Given the description of an element on the screen output the (x, y) to click on. 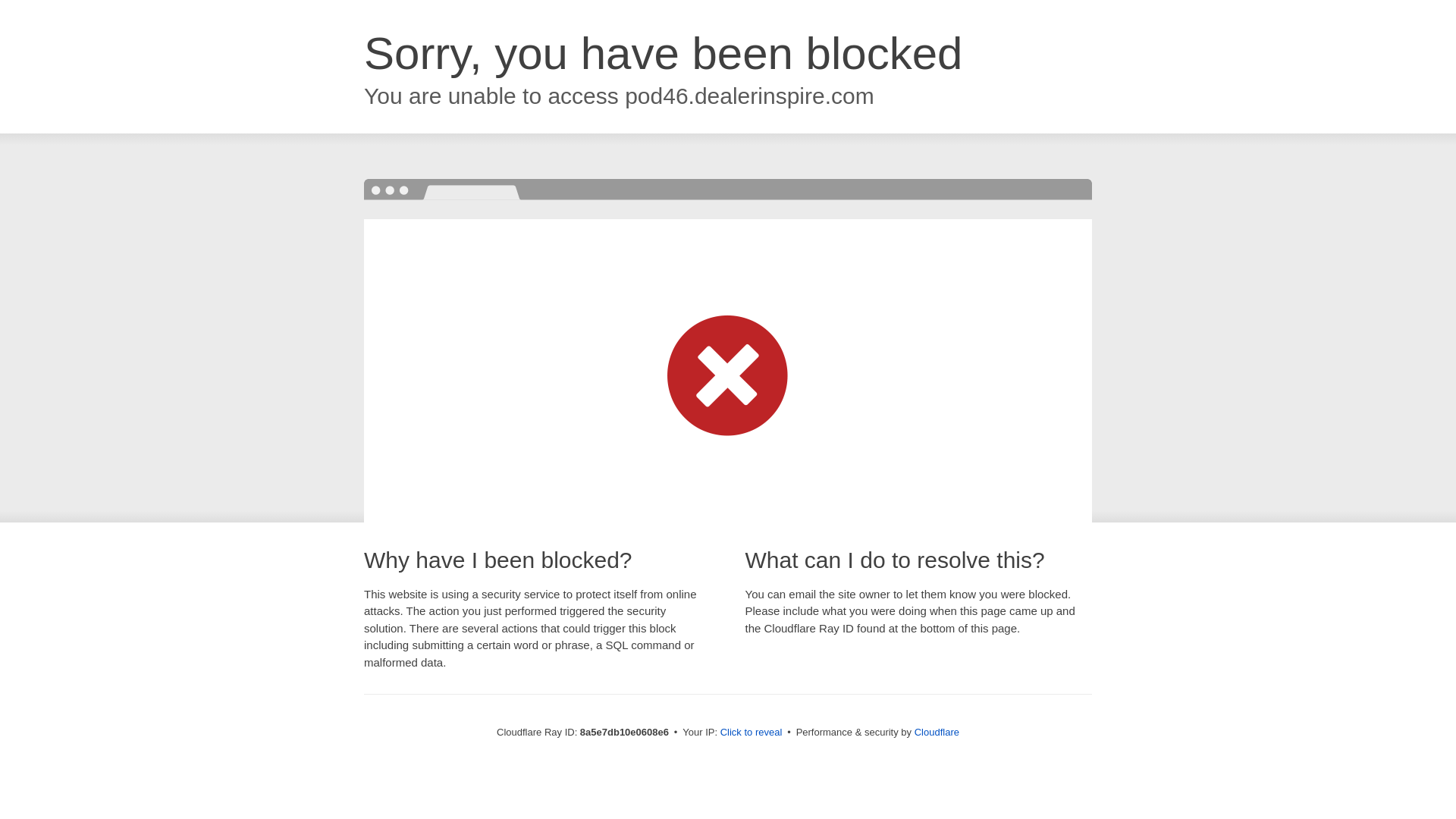
Cloudflare (936, 731)
Click to reveal (751, 732)
